Given the description of an element on the screen output the (x, y) to click on. 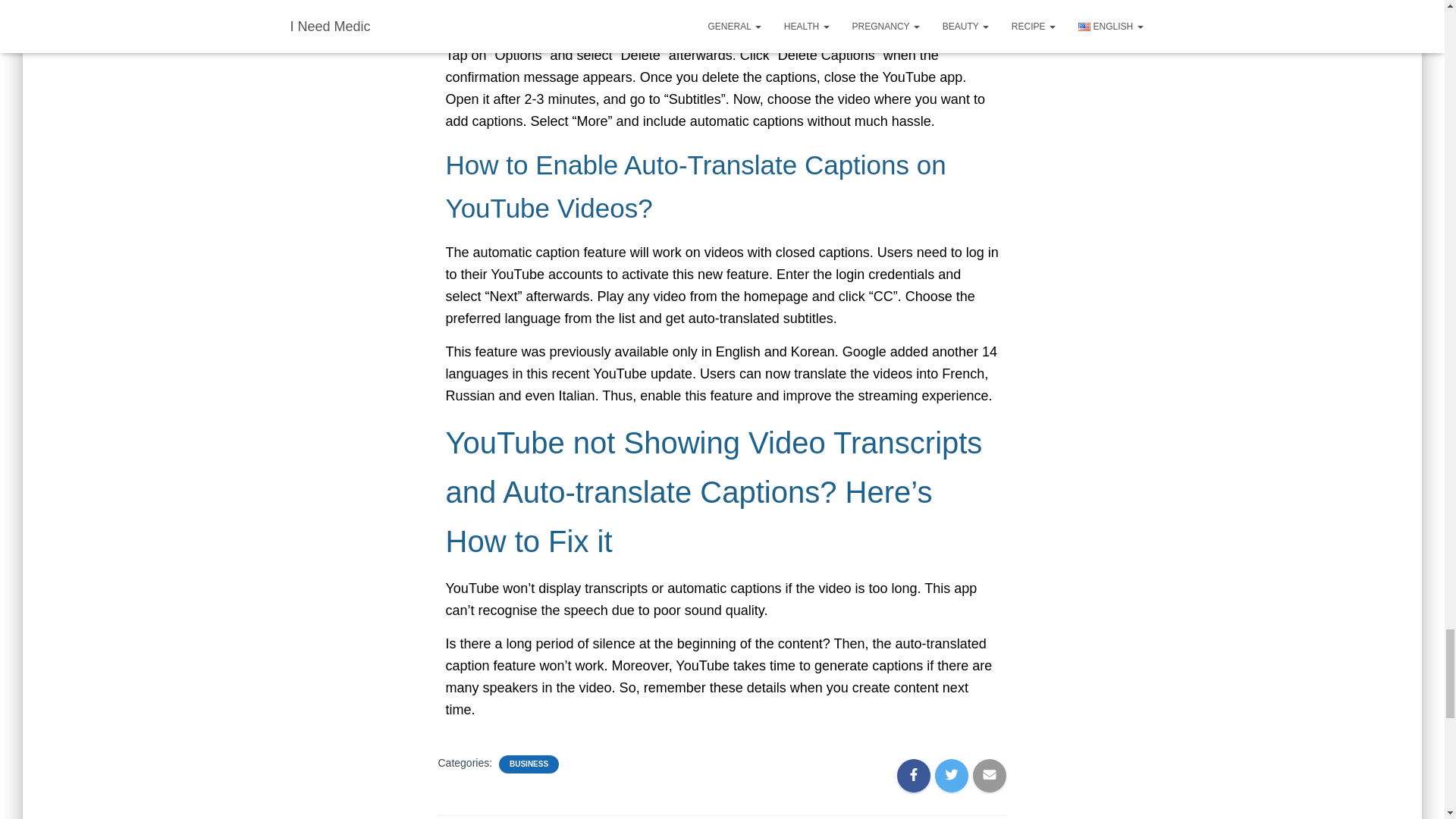
BUSINESS (529, 764)
